Given the description of an element on the screen output the (x, y) to click on. 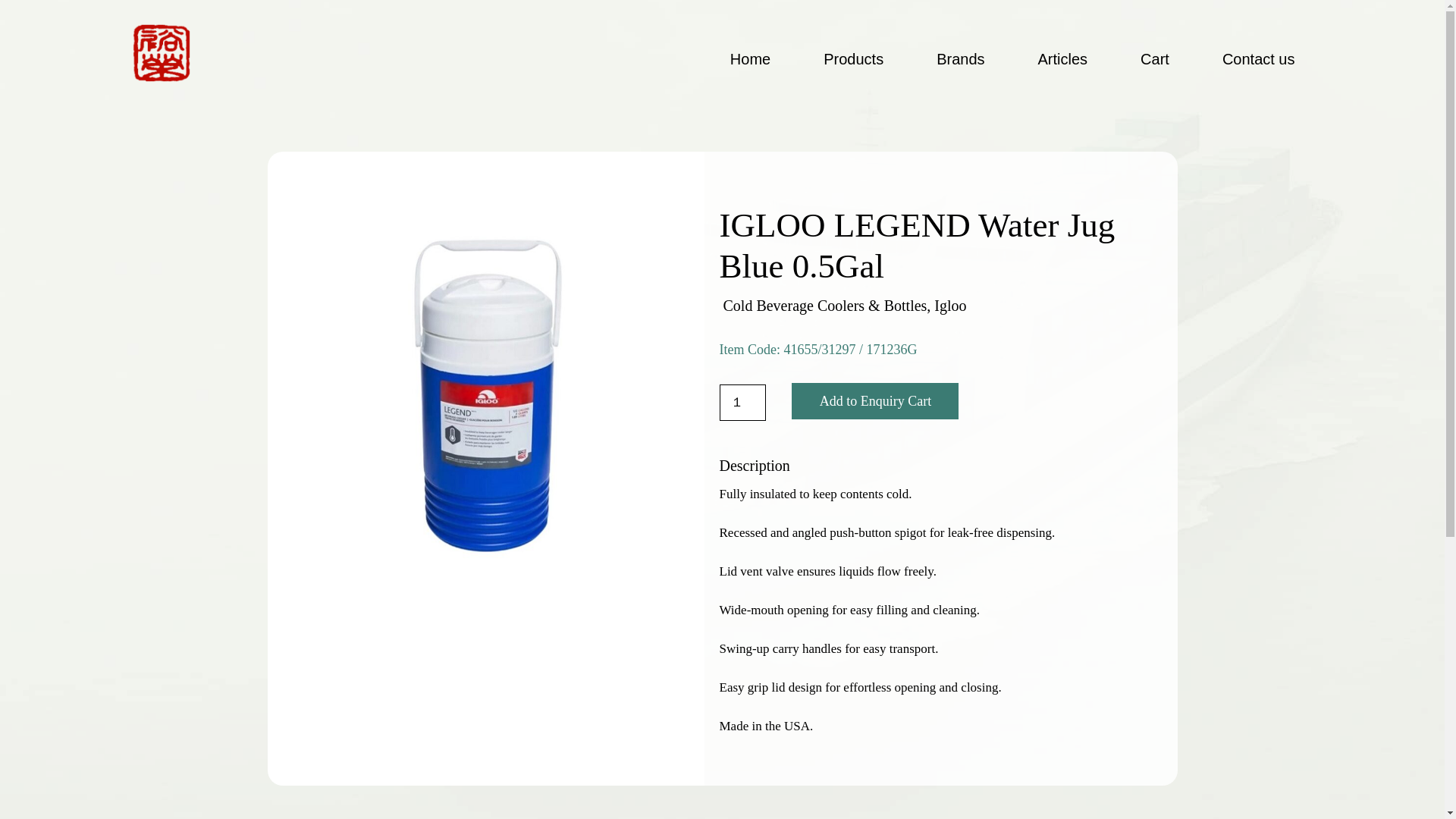
Contact us (1259, 58)
Add to Enquiry Cart (875, 401)
1 (742, 402)
Cart (1154, 58)
Home (750, 58)
Brands (960, 58)
Products (853, 58)
Articles (1062, 58)
